Given the description of an element on the screen output the (x, y) to click on. 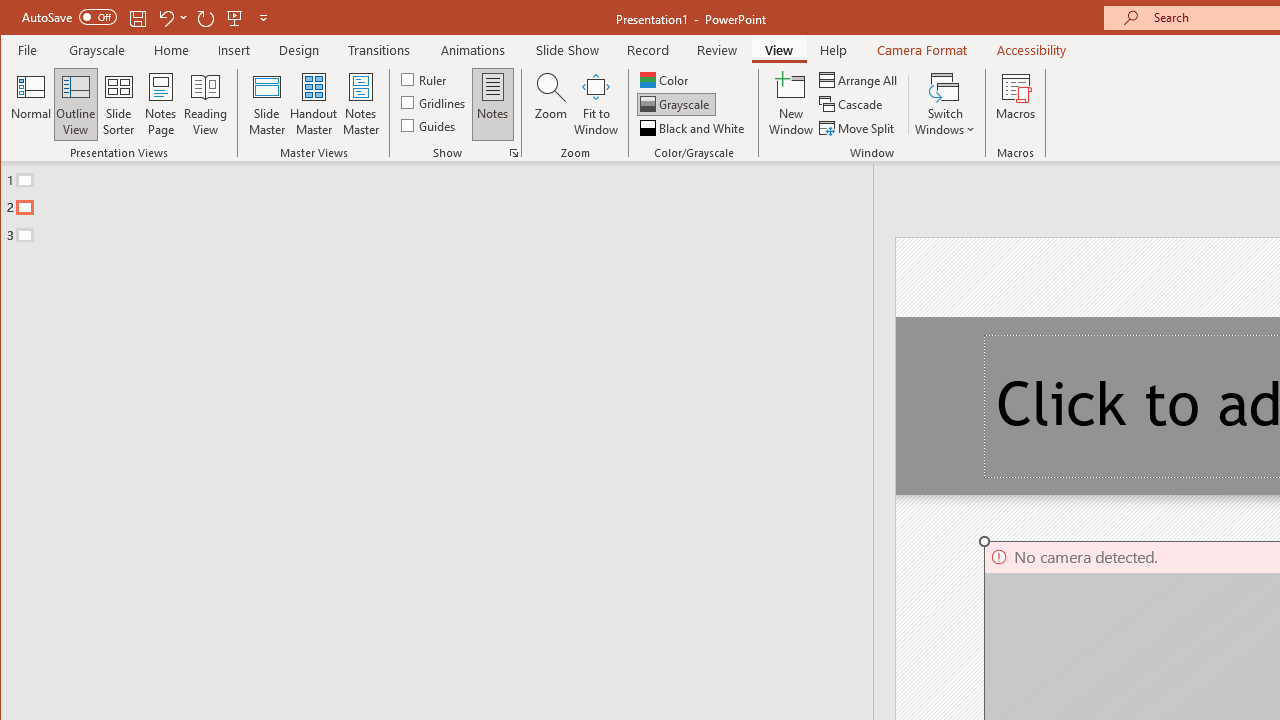
Outline View (75, 104)
New Window (791, 104)
Zoom... (550, 104)
Fit to Window (596, 104)
